Given the description of an element on the screen output the (x, y) to click on. 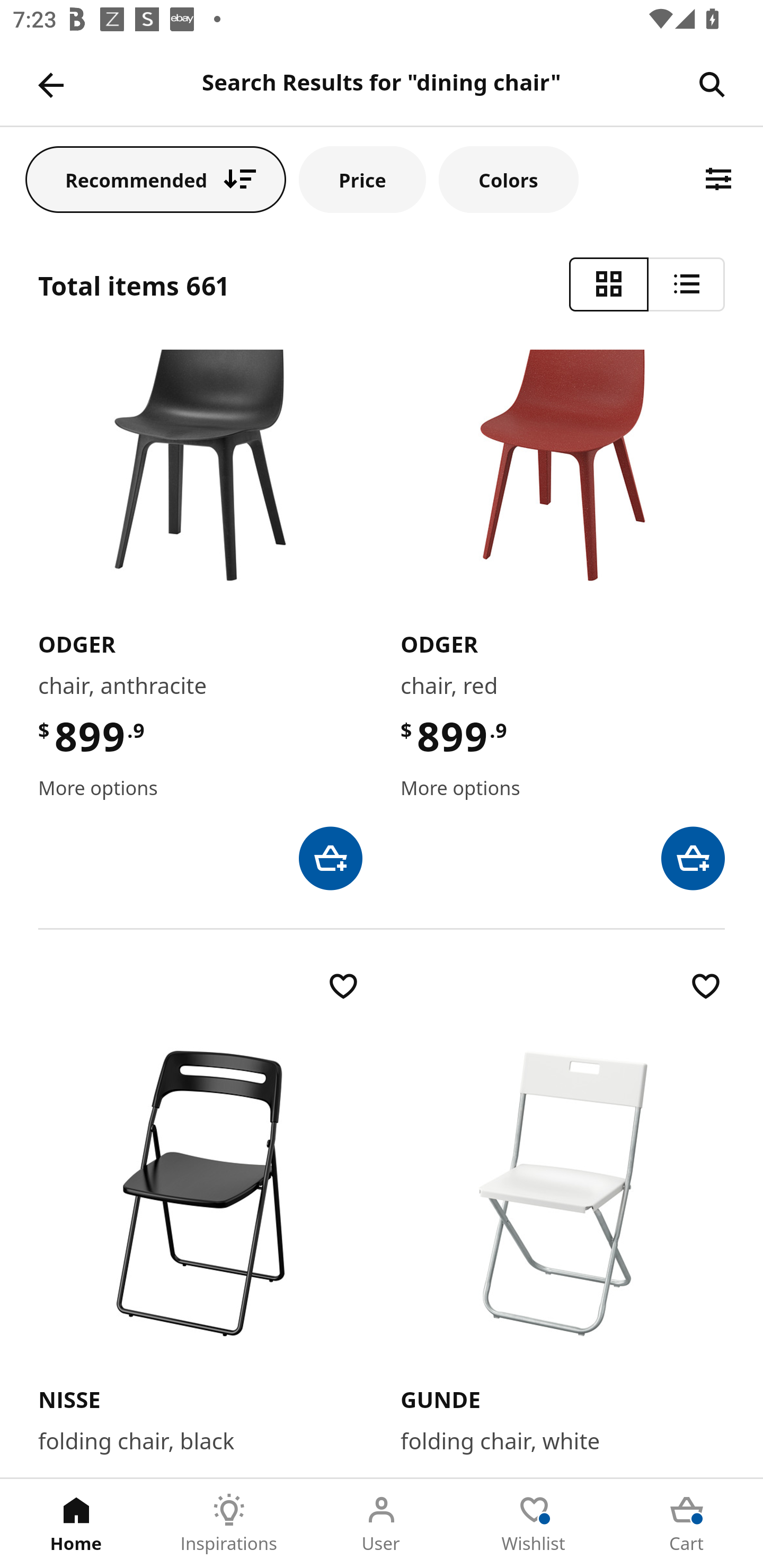
Recommended (155, 179)
Price (362, 179)
Colors (508, 179)
​O​D​G​E​R​
chair, red
$
899
.9
More options (562, 619)
​N​I​S​S​E​
folding chair, black
$
129
.9 (200, 1222)
Home
Tab 1 of 5 (76, 1522)
Inspirations
Tab 2 of 5 (228, 1522)
User
Tab 3 of 5 (381, 1522)
Wishlist
Tab 4 of 5 (533, 1522)
Cart
Tab 5 of 5 (686, 1522)
